Given the description of an element on the screen output the (x, y) to click on. 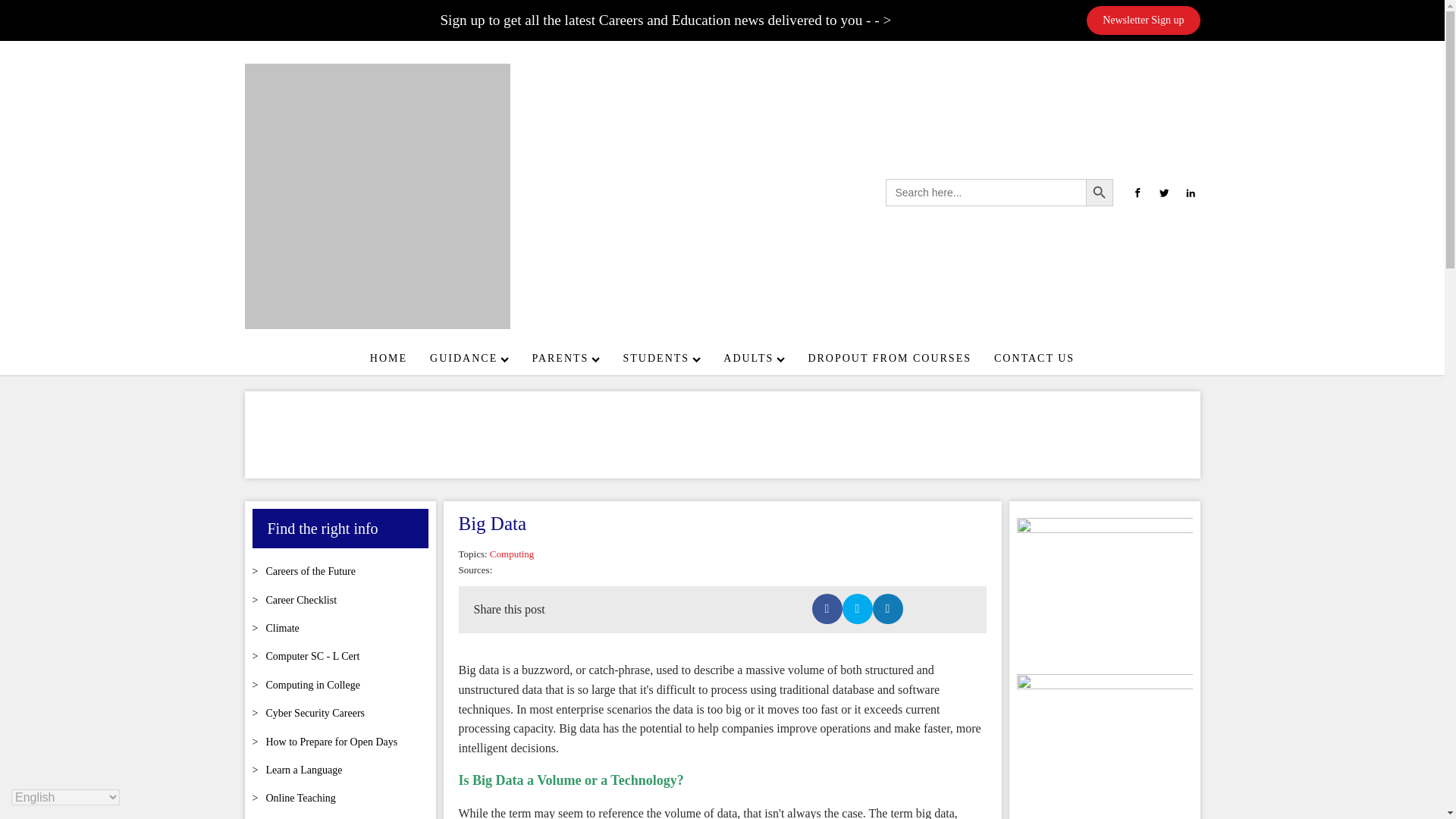
GUIDANCE (469, 358)
Newsletter Sign up (1142, 20)
HOME (388, 358)
STUDENTS (662, 358)
PARENTS (565, 358)
Search Button (1099, 192)
